Given the description of an element on the screen output the (x, y) to click on. 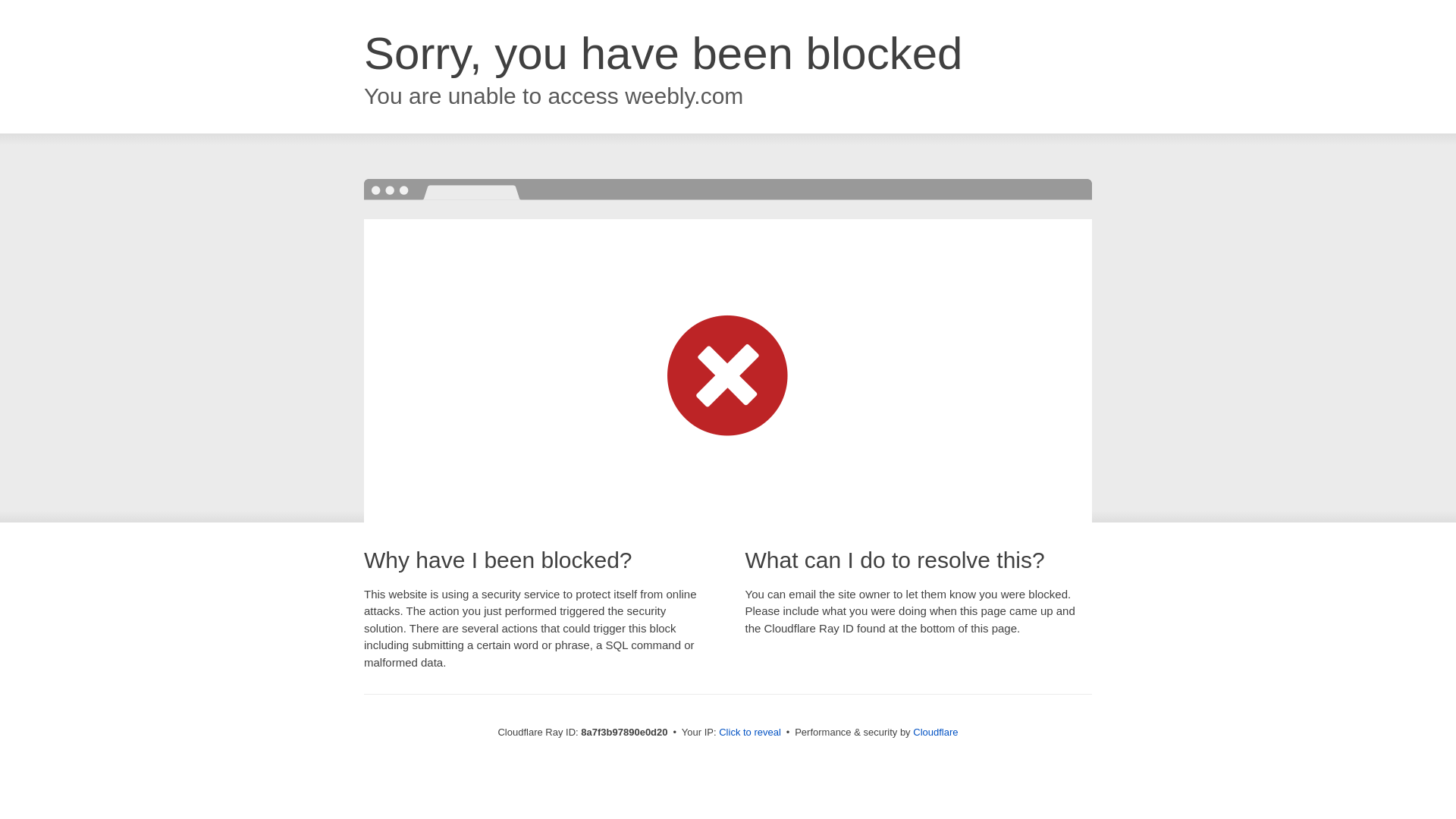
Cloudflare (935, 731)
Click to reveal (749, 732)
